Given the description of an element on the screen output the (x, y) to click on. 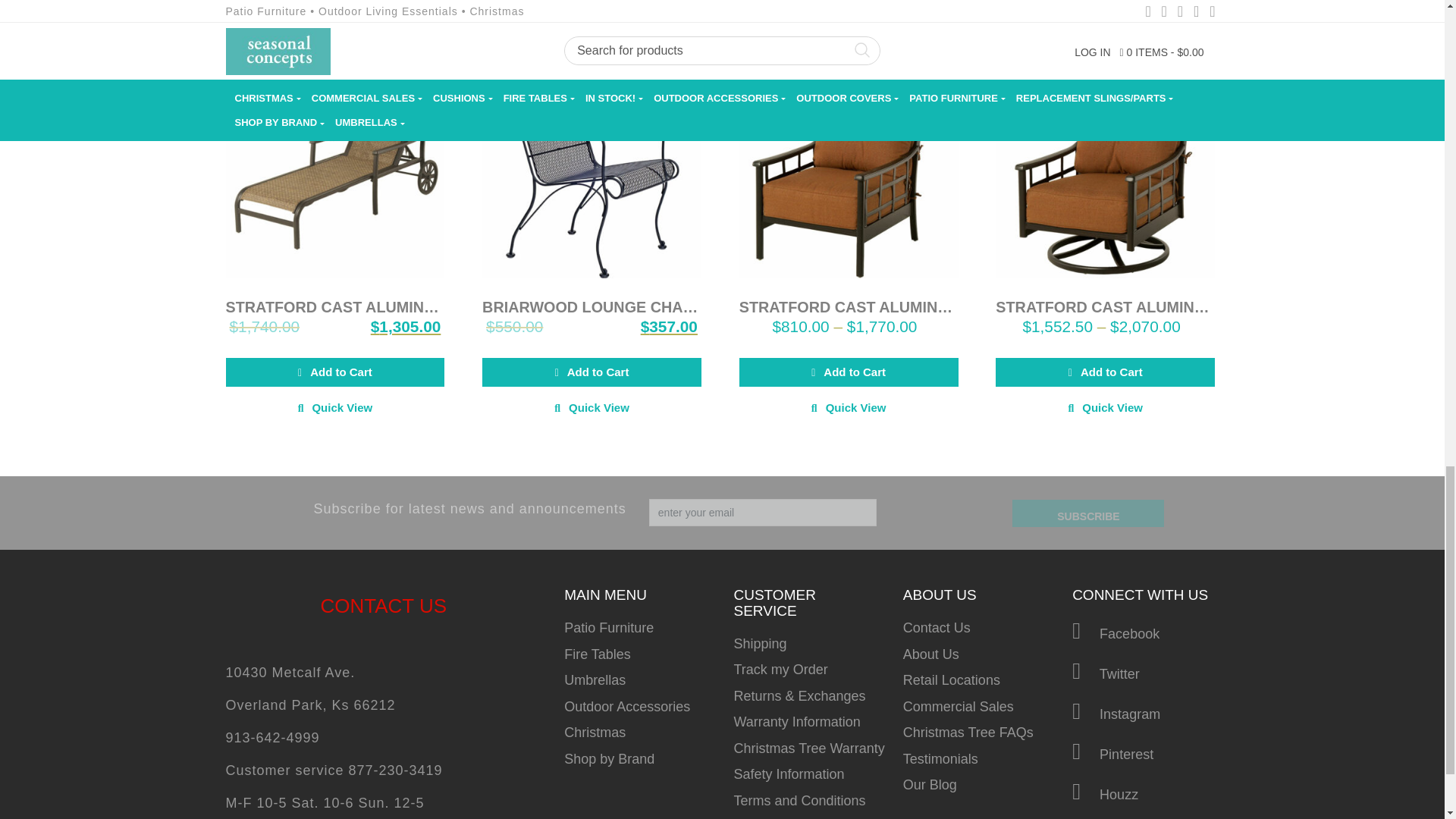
subscribe (1087, 513)
